Given the description of an element on the screen output the (x, y) to click on. 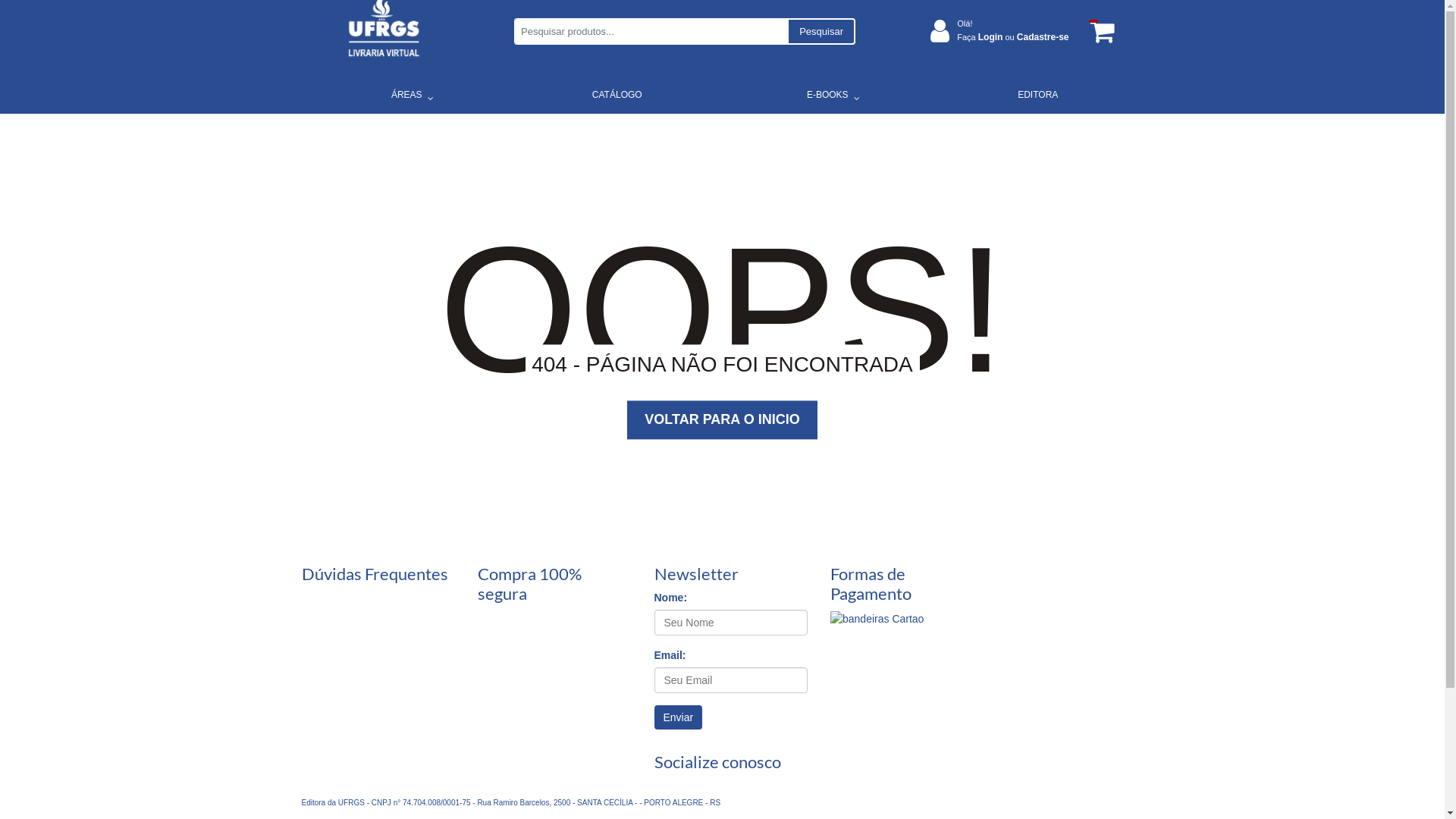
Enviar Element type: text (677, 717)
VOLTAR PARA O INICIO Element type: text (721, 419)
E-BOOKS Element type: text (826, 94)
EDITORA Element type: text (1037, 94)
Ver seu Carrinho Element type: hover (1099, 31)
